Given the description of an element on the screen output the (x, y) to click on. 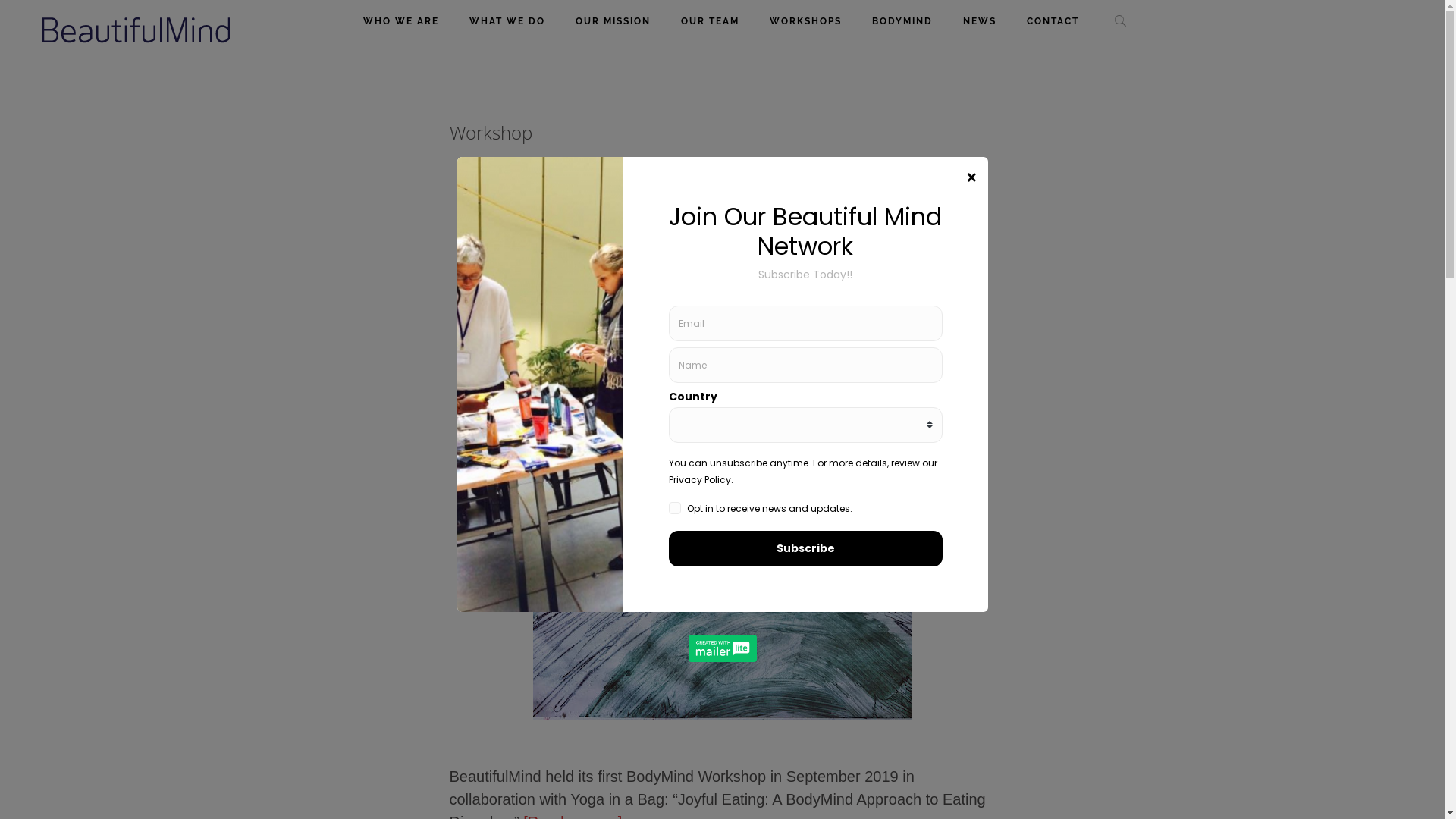
Leave a Comment Element type: text (722, 267)
WORKSHOPS Element type: text (805, 20)
Search Element type: text (1131, 6)
WHAT WE DO Element type: text (507, 20)
CONTACT Element type: text (1052, 20)
BODYMIND Element type: text (901, 20)
OUR TEAM Element type: text (709, 20)
NEWS Element type: text (979, 20)
WHO WE ARE Element type: text (401, 20)
OUR MISSION Element type: text (612, 20)
BEAUTIFULMIND Element type: text (136, 30)
Skip to main content Element type: text (0, 0)
BodyMind Workshops in Zurich Element type: text (721, 219)
